Given the description of an element on the screen output the (x, y) to click on. 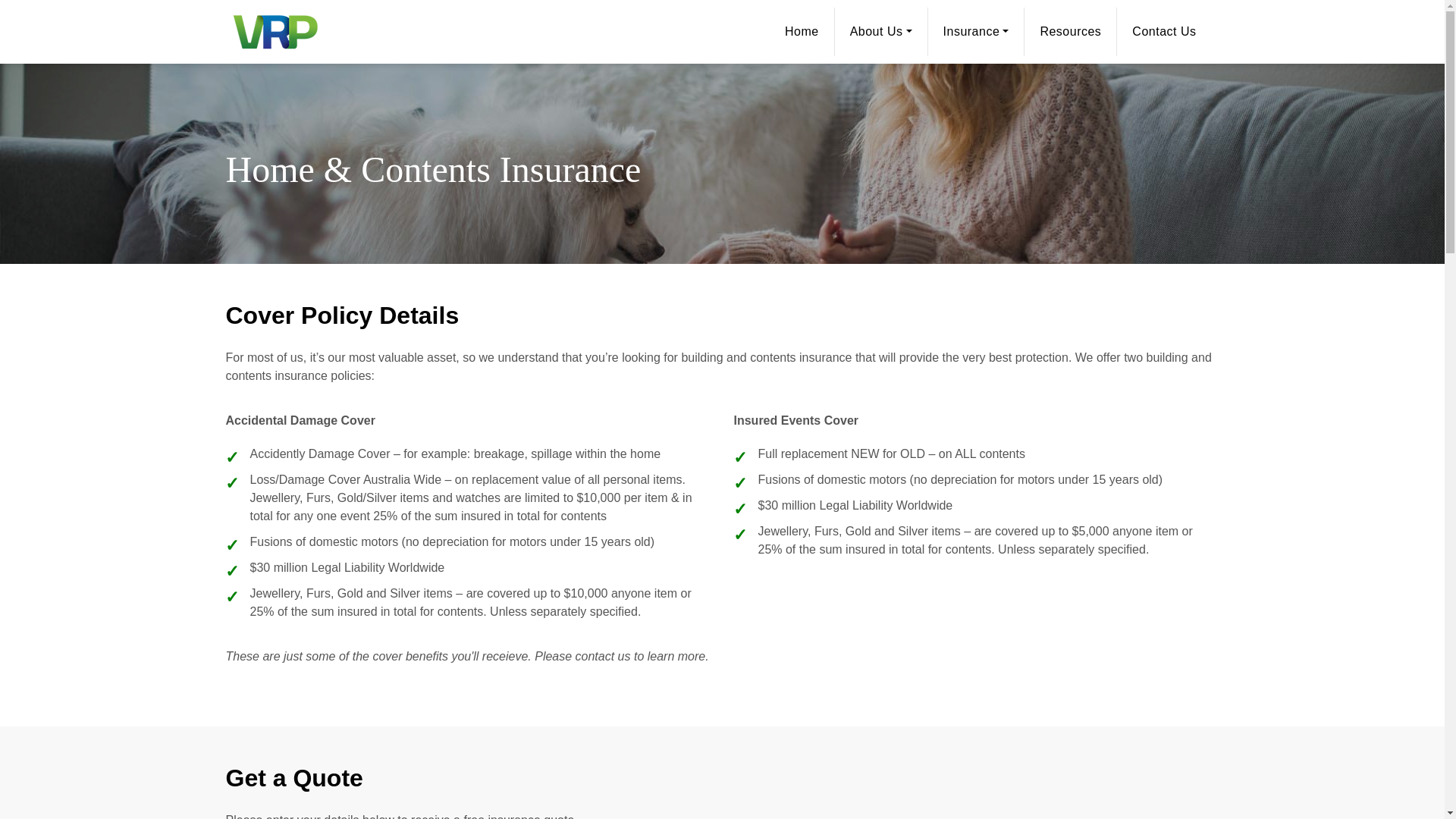
Home (802, 31)
Contact Us (1163, 31)
Insurance (976, 31)
About Us (881, 31)
Resources (1070, 31)
